Given the description of an element on the screen output the (x, y) to click on. 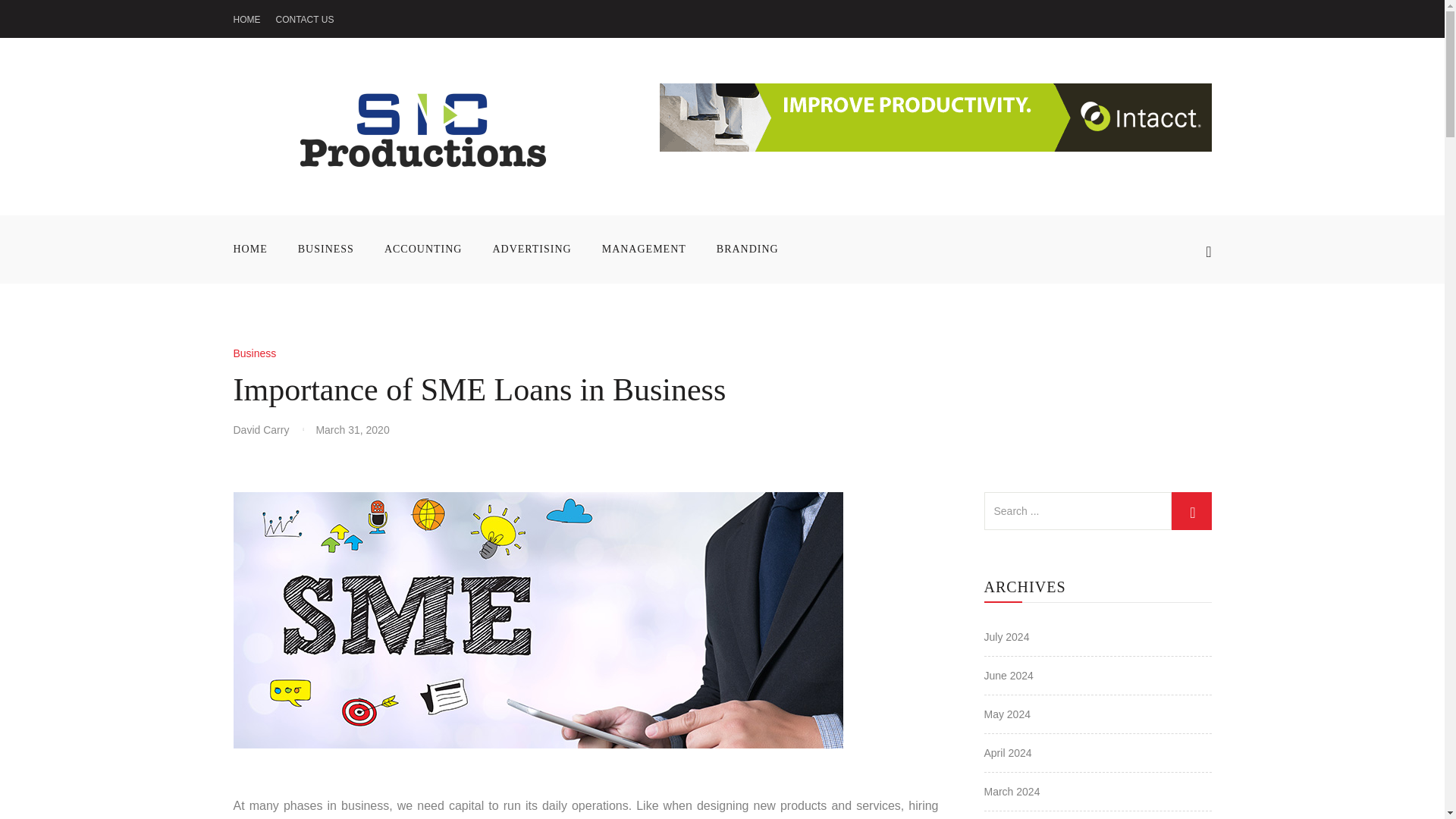
June 2024 (1008, 675)
March 31, 2020 (351, 429)
BUSINESS (325, 249)
May 2024 (1007, 714)
MANAGEMENT (643, 249)
HOME (246, 19)
July 2024 (1006, 636)
View all posts in Business (254, 353)
April 2024 (1008, 752)
David Carry (266, 429)
Business (254, 353)
ADVERTISING (531, 249)
CONTACT US (305, 19)
BRANDING (747, 249)
ACCOUNTING (423, 249)
